Given the description of an element on the screen output the (x, y) to click on. 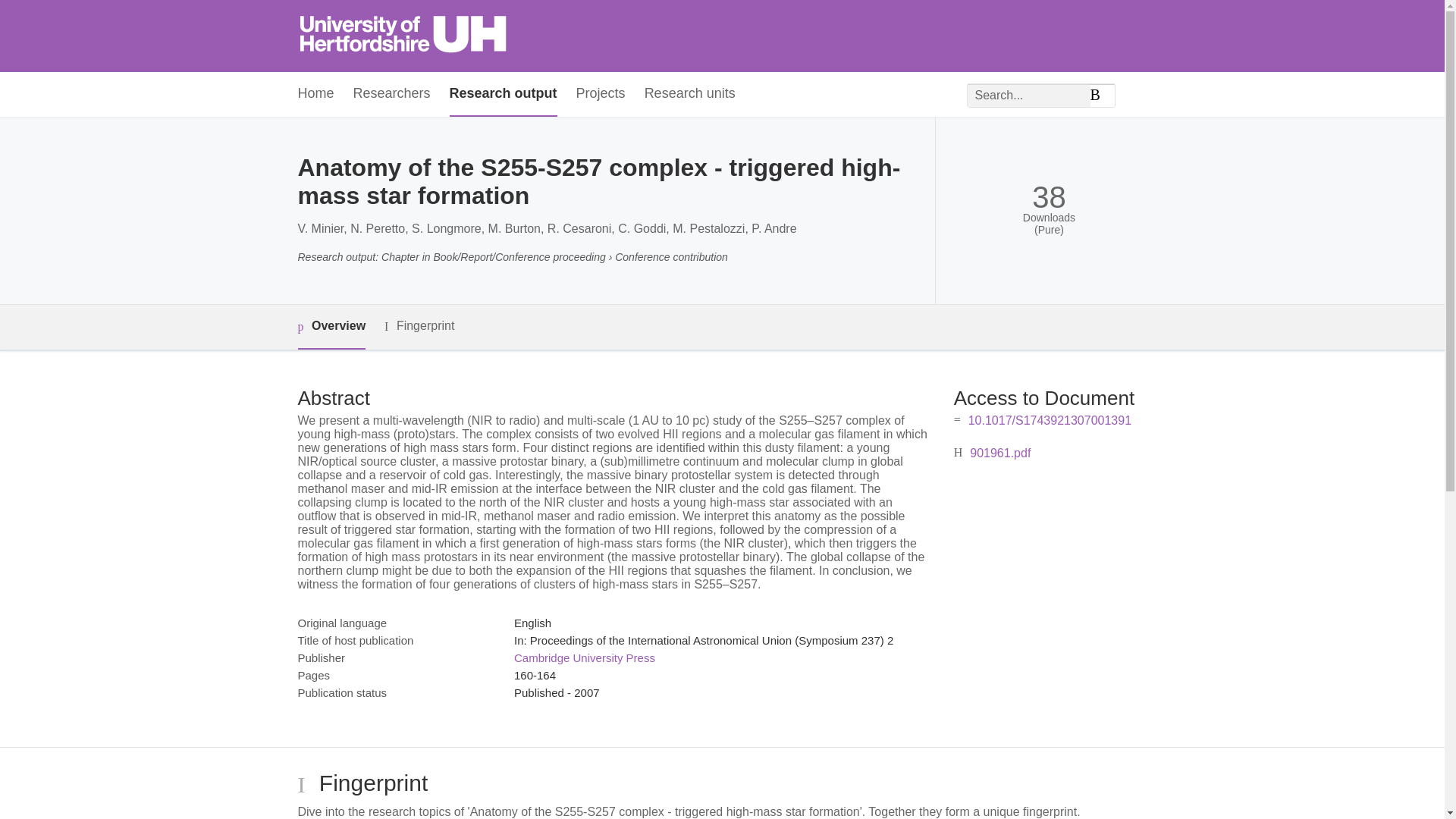
Research output (503, 94)
901961.pdf (999, 452)
Research units (690, 94)
Cambridge University Press (584, 657)
Home (315, 94)
Fingerprint (419, 326)
Overview (331, 326)
Projects (601, 94)
Researchers (391, 94)
